Given the description of an element on the screen output the (x, y) to click on. 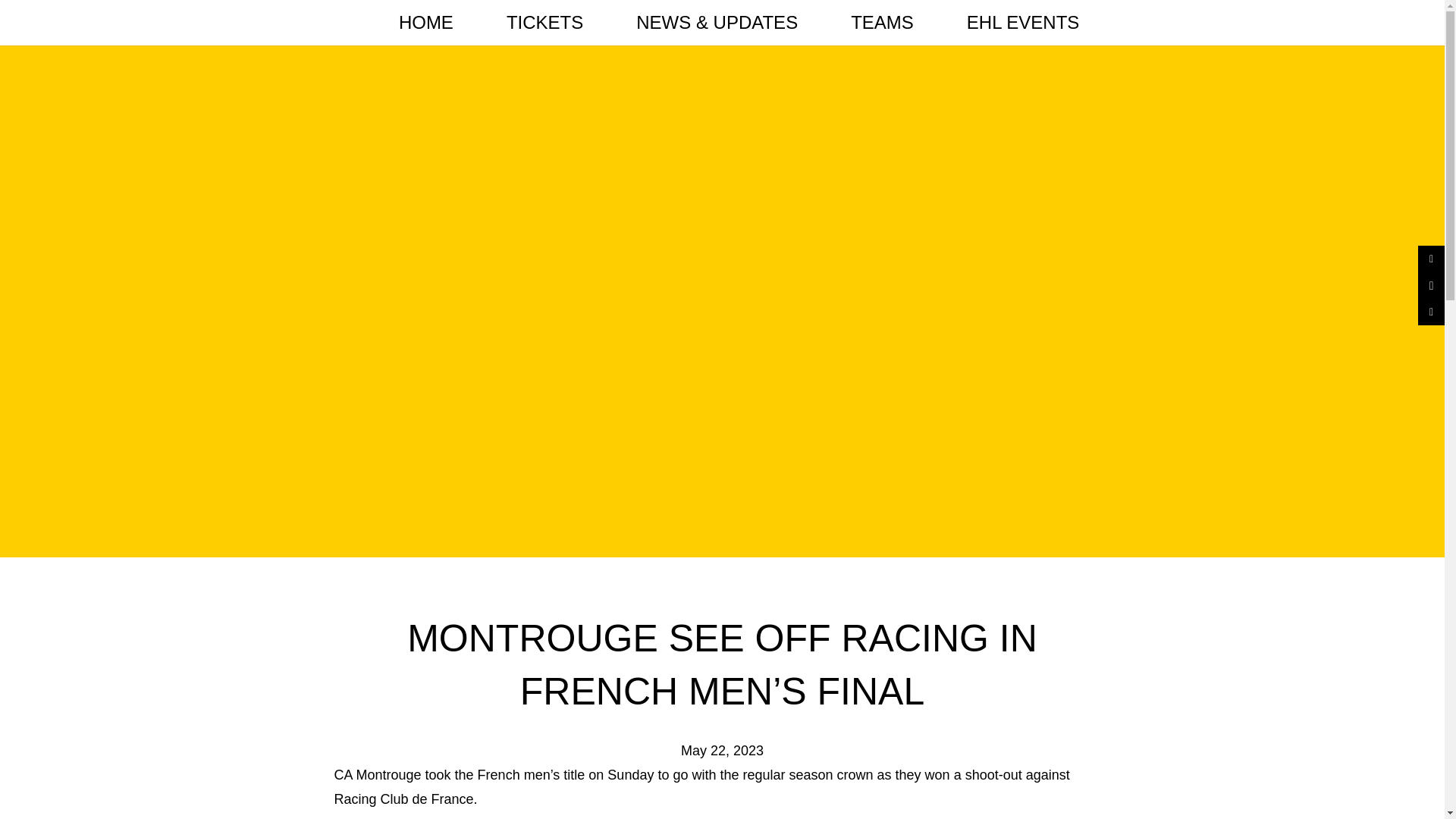
TICKETS (545, 22)
EHL EVENTS (1023, 22)
HOME (426, 22)
TEAMS (882, 22)
